Given the description of an element on the screen output the (x, y) to click on. 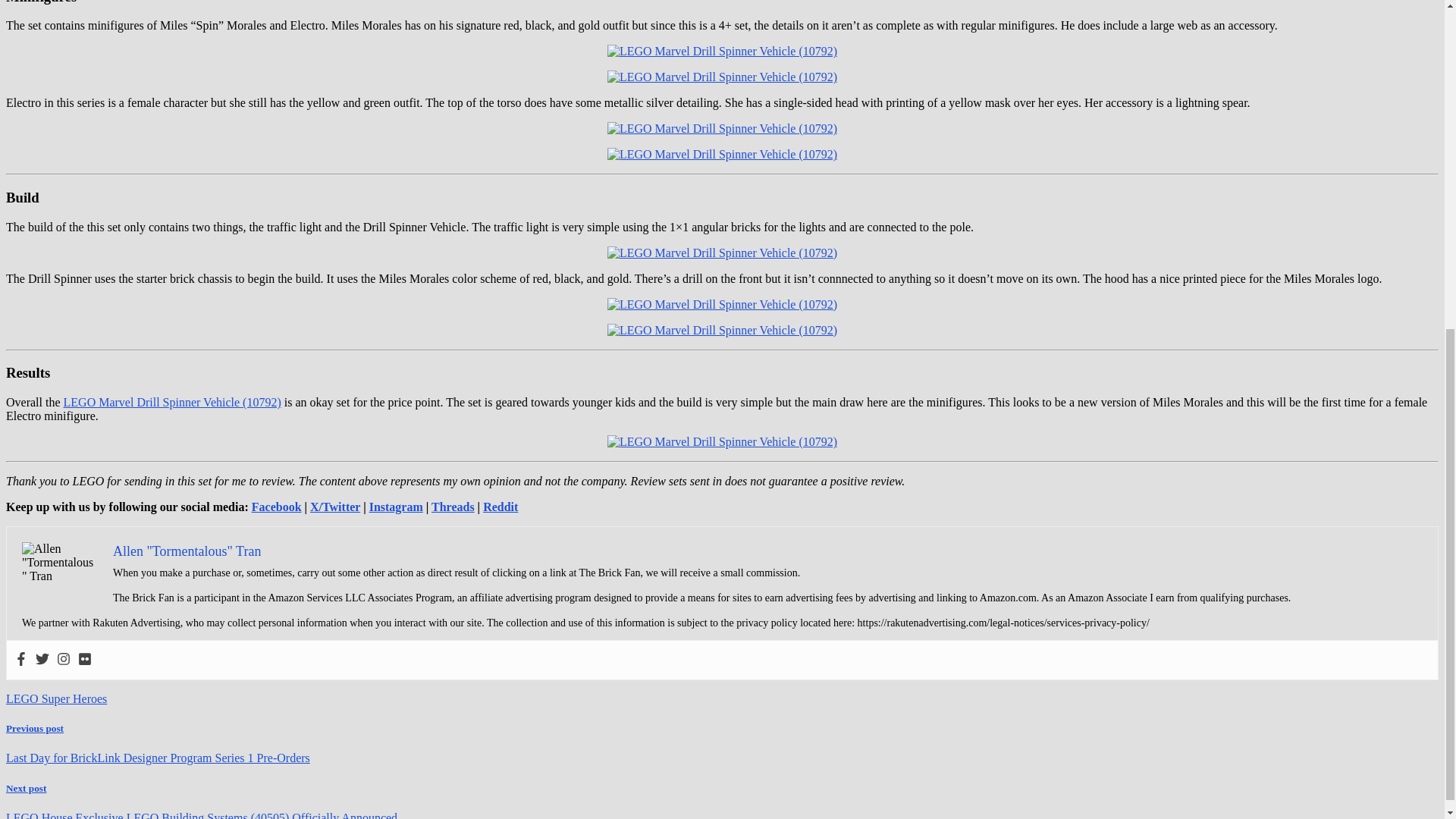
Facebook (276, 506)
